Given the description of an element on the screen output the (x, y) to click on. 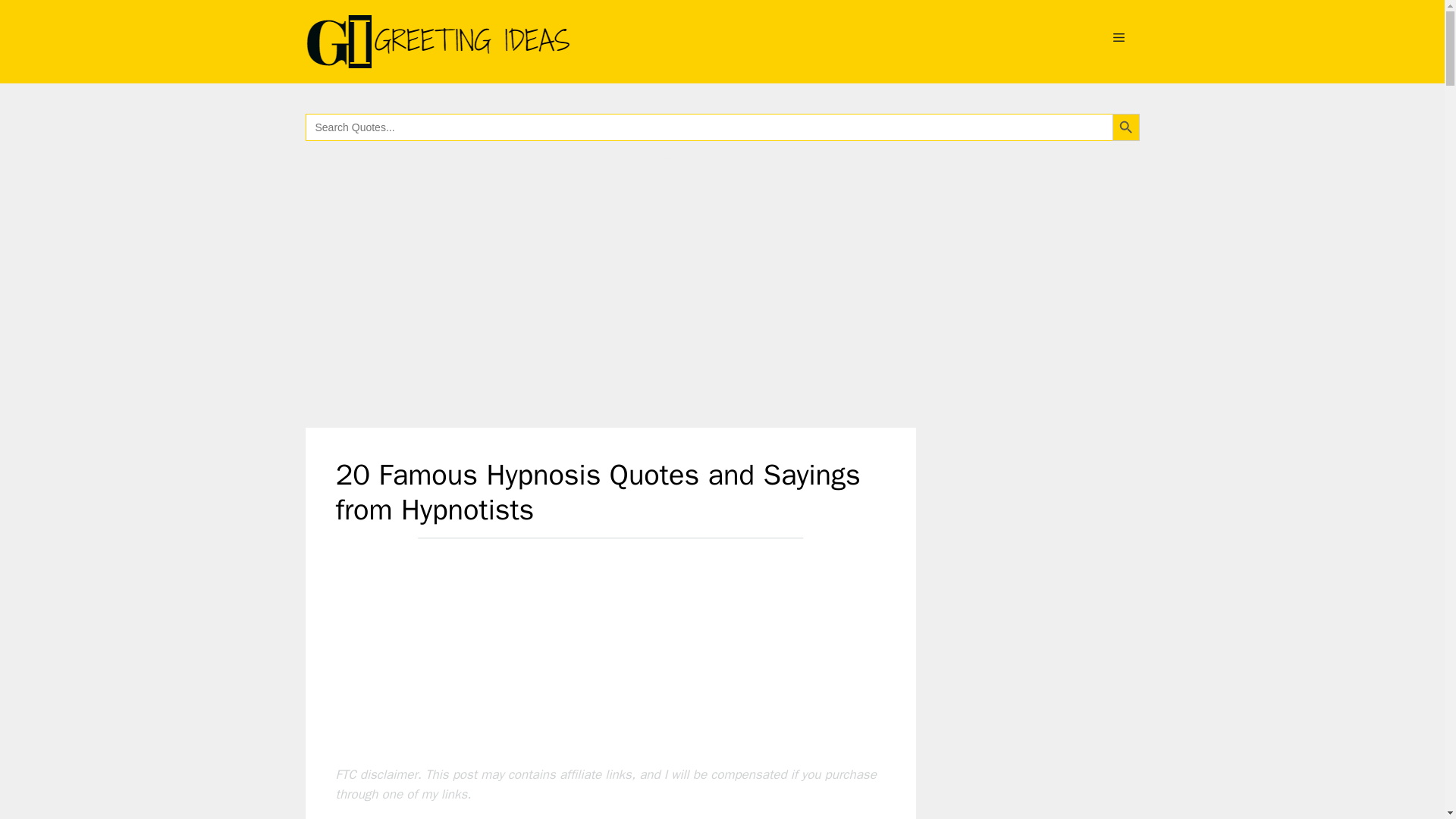
Advertisement (609, 633)
Search Button (1125, 126)
